Given the description of an element on the screen output the (x, y) to click on. 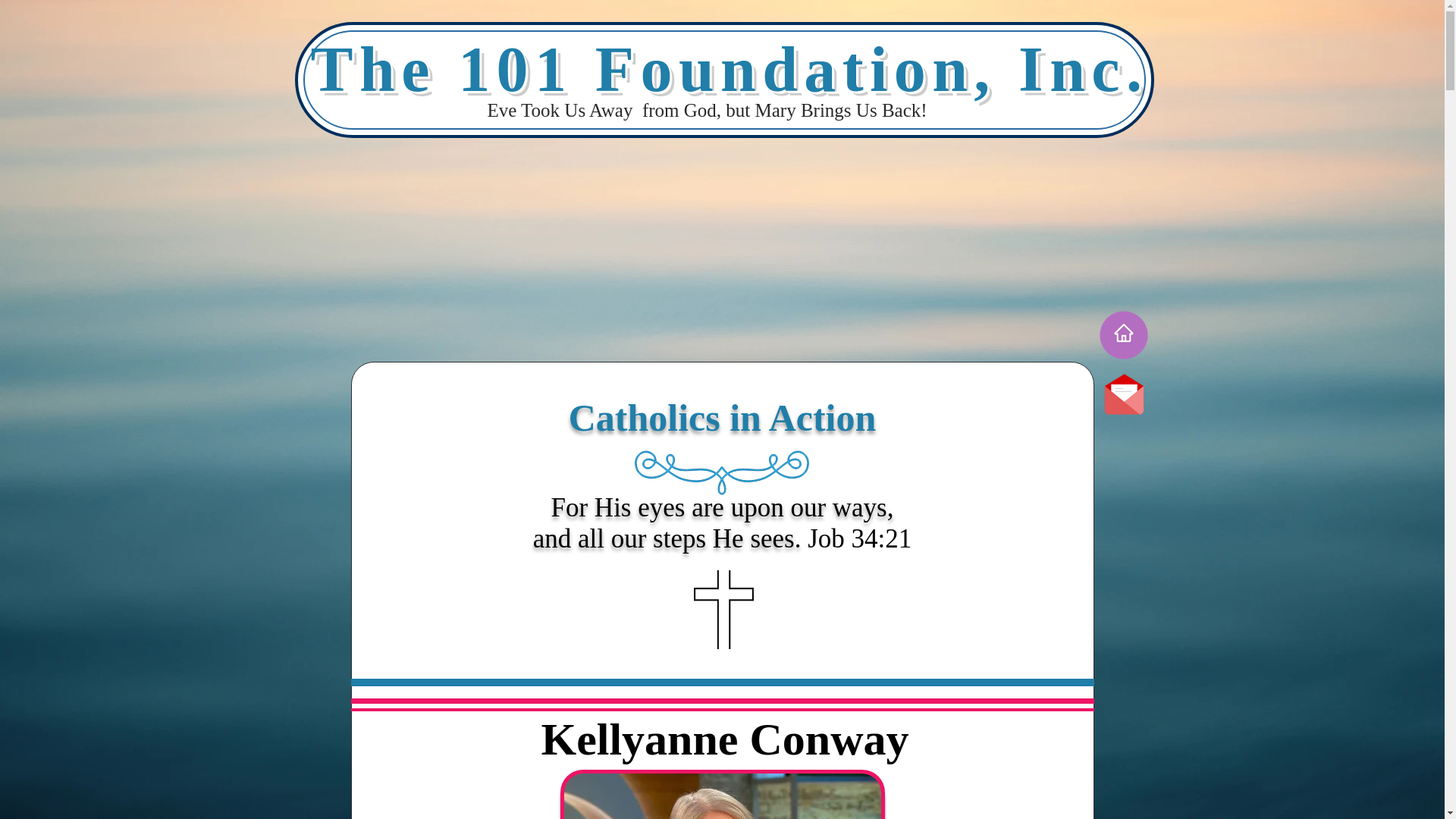
The 101 Foundation, Inc. (729, 69)
